Given the description of an element on the screen output the (x, y) to click on. 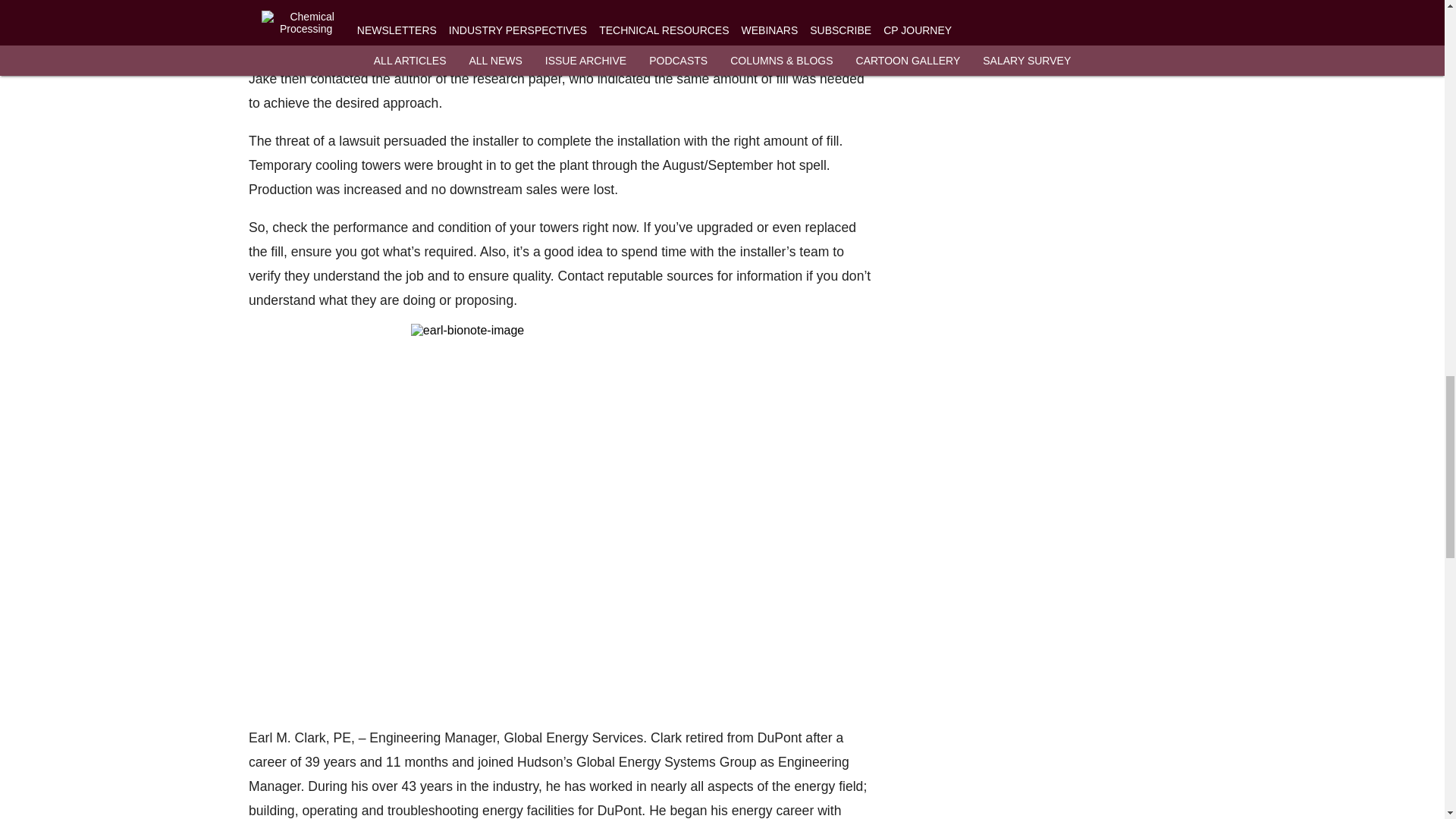
earl-bionote-image (560, 524)
